Given the description of an element on the screen output the (x, y) to click on. 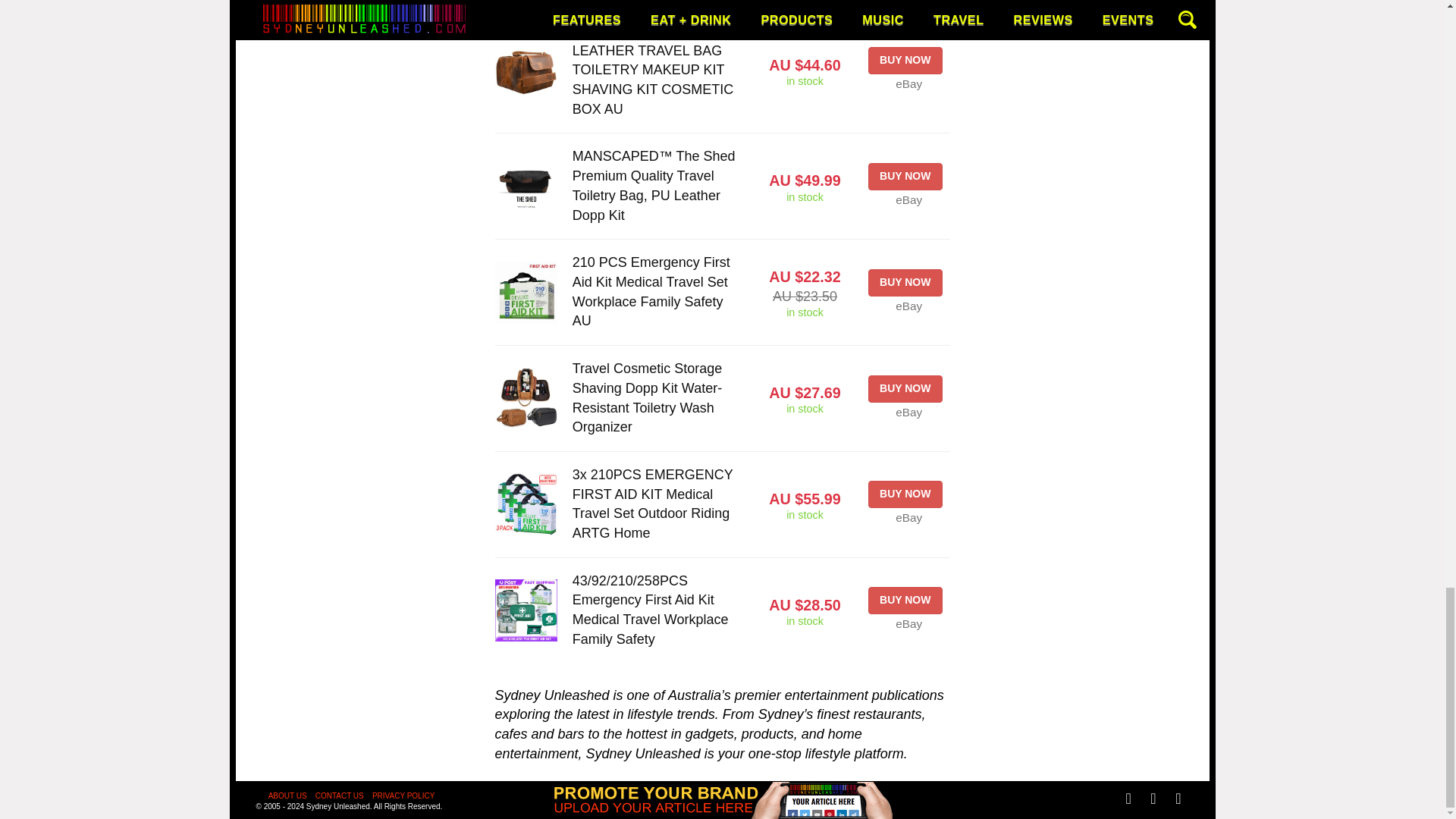
BUY NOW (904, 176)
BUY NOW (904, 282)
Last updated on August 1, 2024 12:53 pm (805, 81)
Last updated on August 1, 2024 12:53 pm (805, 197)
Last updated on August 1, 2024 12:53 pm (805, 621)
Last updated on August 1, 2024 12:53 pm (805, 312)
Last updated on August 1, 2024 12:53 pm (805, 408)
Last updated on August 1, 2024 12:53 pm (805, 514)
BUY NOW (904, 60)
